Given the description of an element on the screen output the (x, y) to click on. 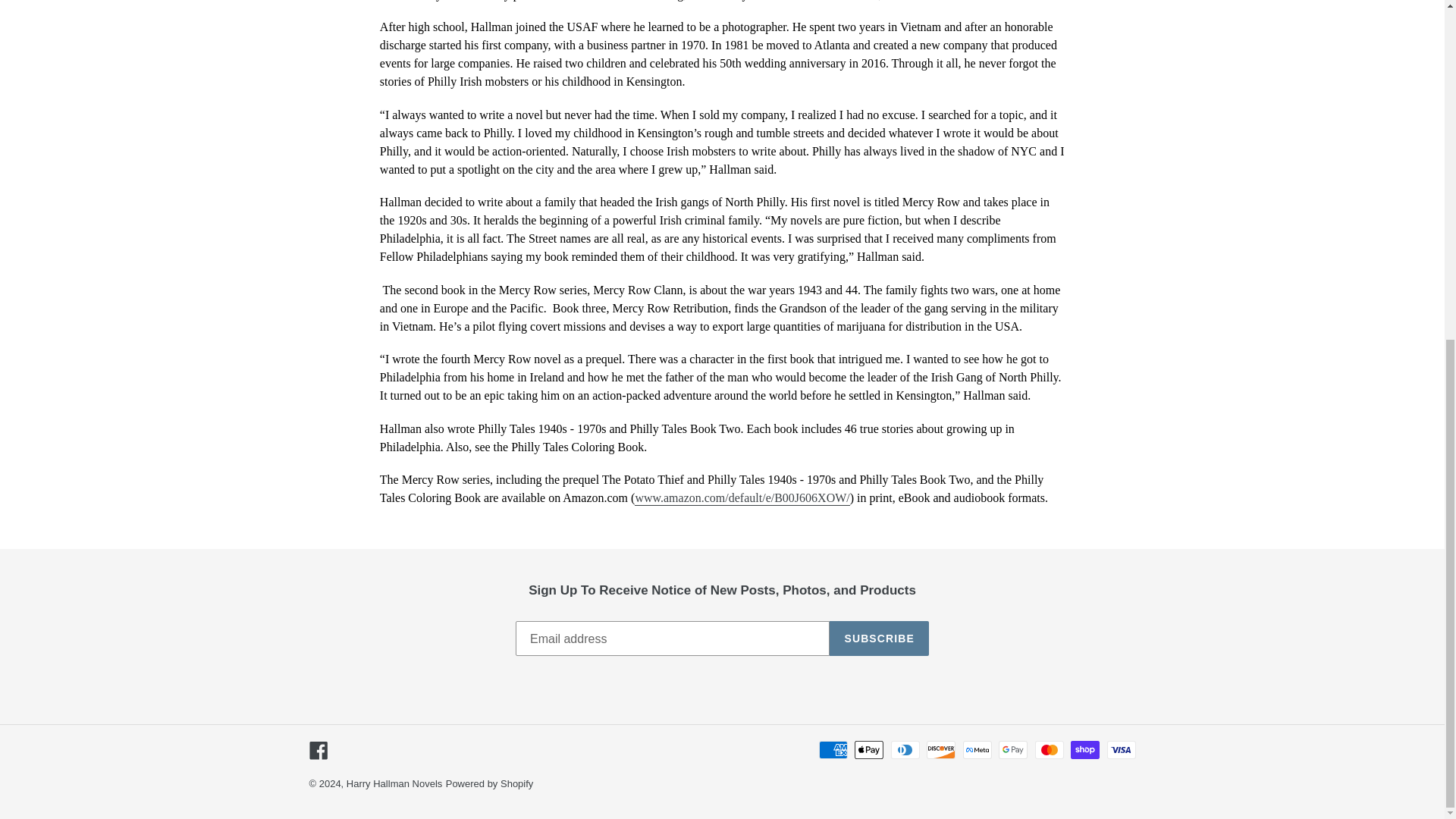
SUBSCRIBE (878, 638)
Harry Hallman Novels (394, 783)
Facebook (318, 750)
Powered by Shopify (489, 783)
